Given the description of an element on the screen output the (x, y) to click on. 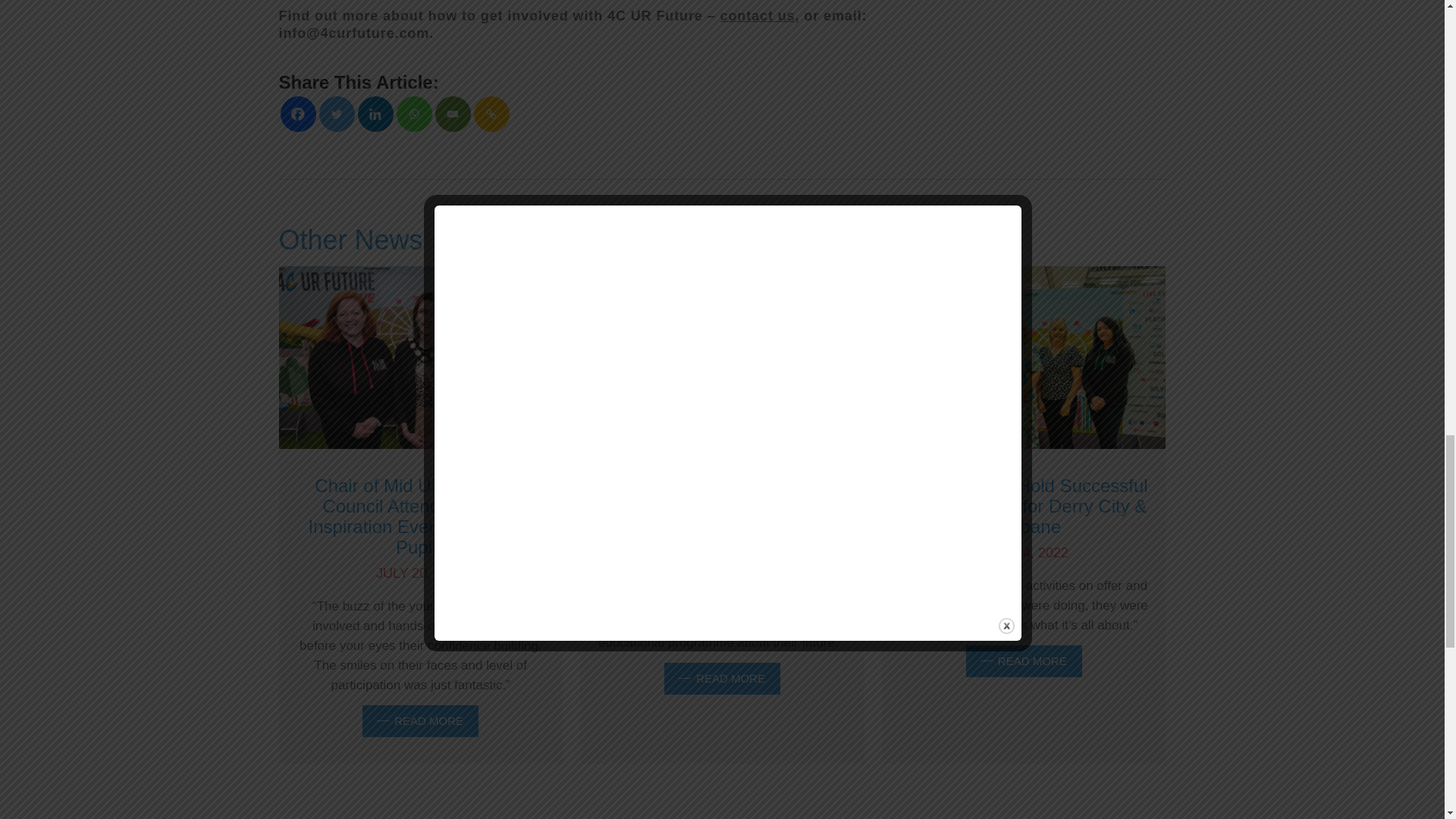
Copy Link (490, 113)
Twitter (335, 113)
Email (452, 113)
Facebook (298, 113)
Whatsapp (413, 113)
Linkedin (375, 113)
